Given the description of an element on the screen output the (x, y) to click on. 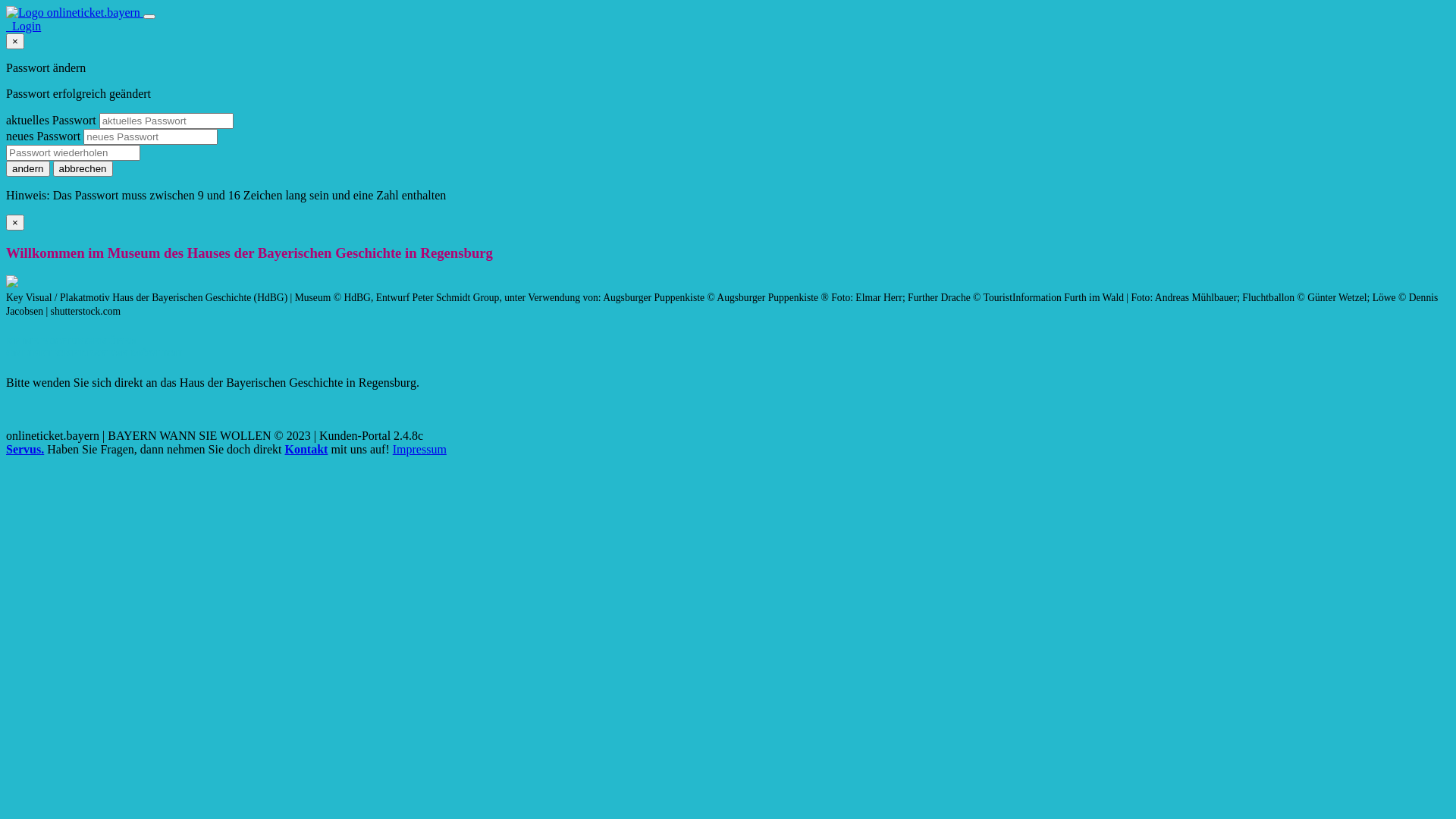
Impressum Element type: text (419, 448)
abbrechen Element type: text (82, 168)
Kontakt Element type: text (305, 448)
Servus. Element type: text (24, 448)
andern Element type: text (28, 168)
  Login Element type: text (23, 25)
Startseite | onlineticket.bayern Element type: hover (74, 12)
